Given the description of an element on the screen output the (x, y) to click on. 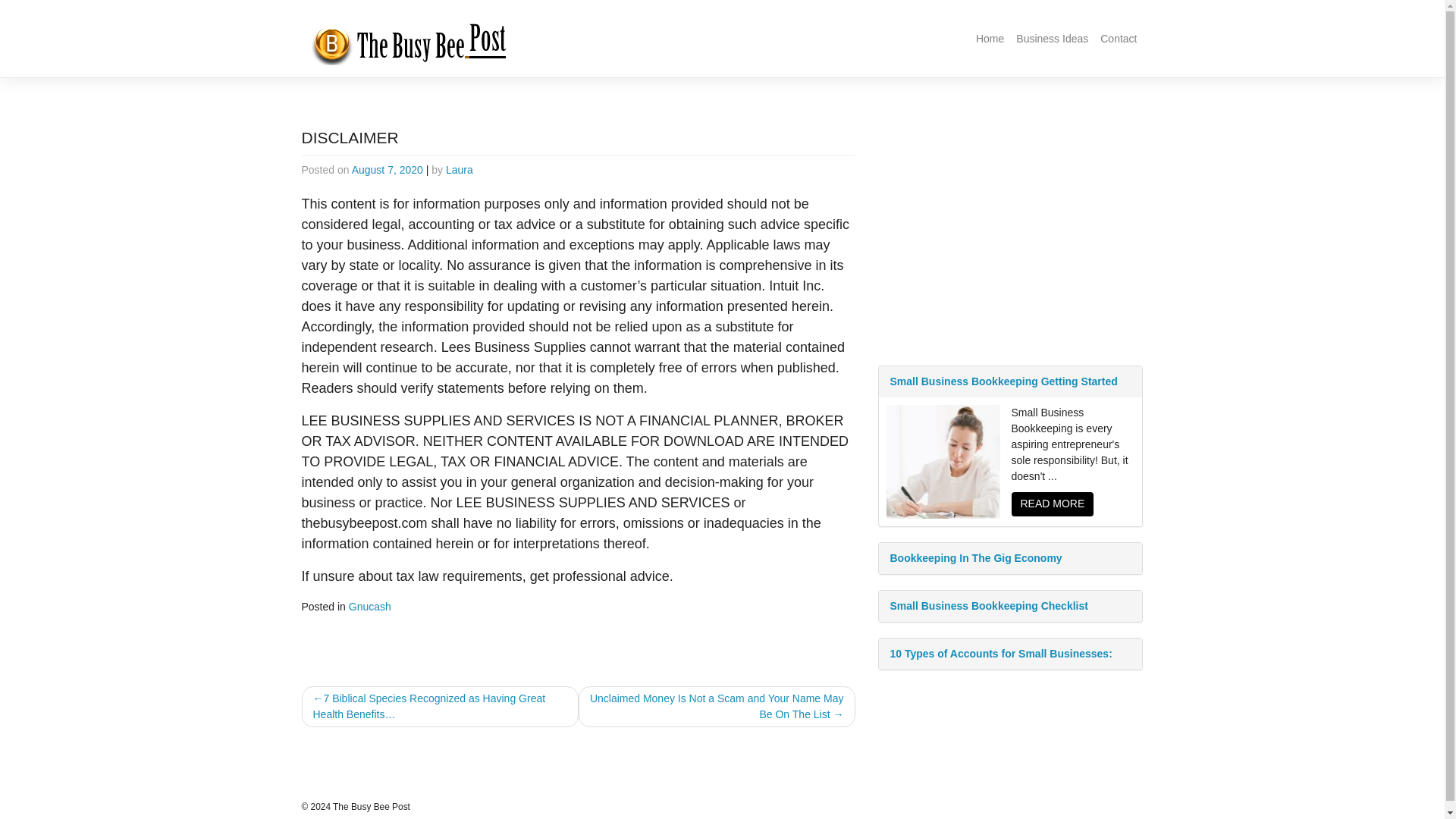
Business Ideas (1052, 39)
Home (989, 39)
Contact (1118, 39)
The Busy Bee Post (371, 806)
Advertisement (1009, 238)
Contact (1118, 39)
Small Business Bookkeeping Getting Started (1009, 381)
READ MORE (1052, 504)
Home (989, 39)
